Given the description of an element on the screen output the (x, y) to click on. 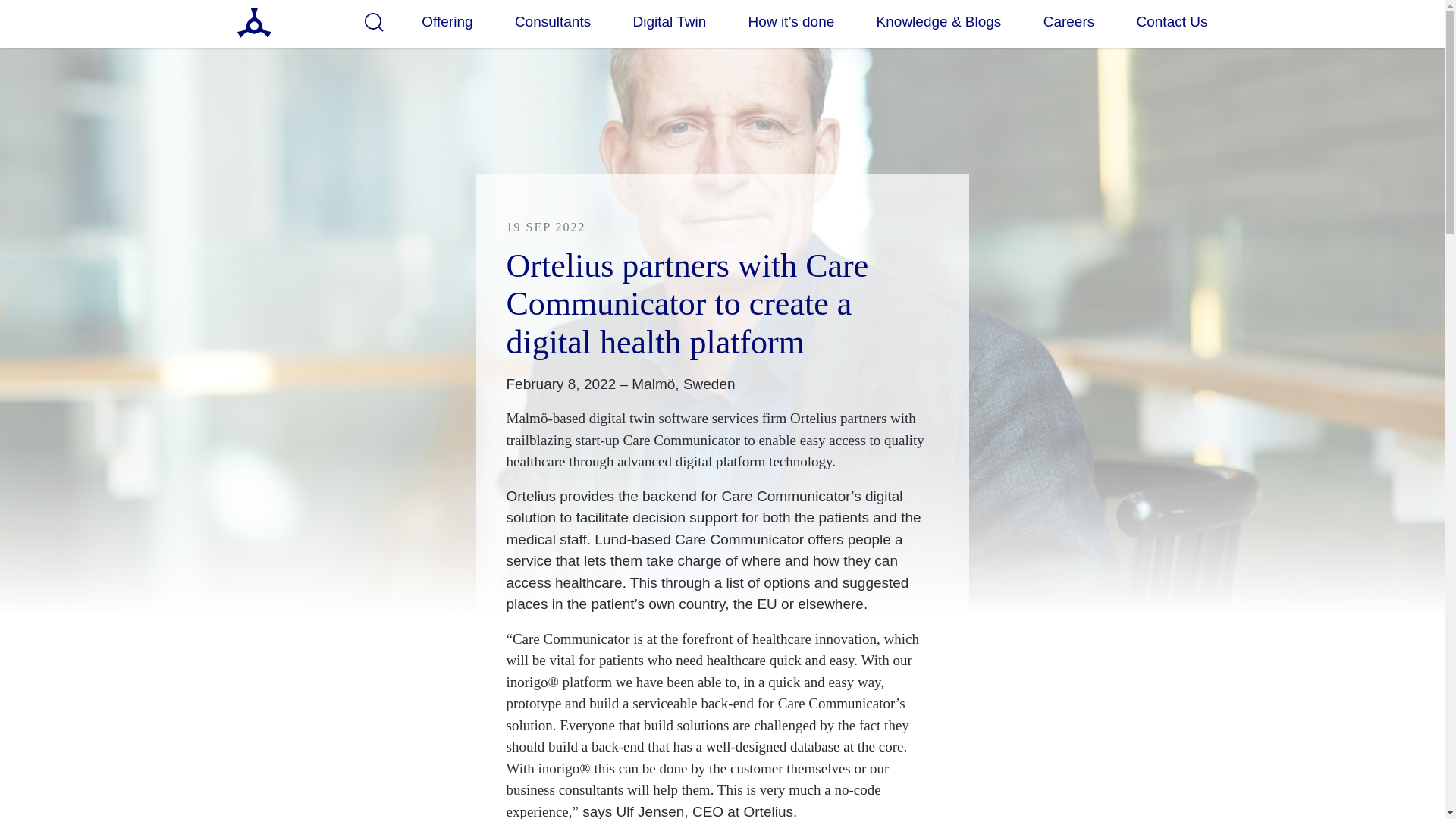
Digital Twin (668, 21)
Offering (446, 21)
Consultants (553, 21)
Careers (1068, 21)
Contact Us (1172, 21)
